Given the description of an element on the screen output the (x, y) to click on. 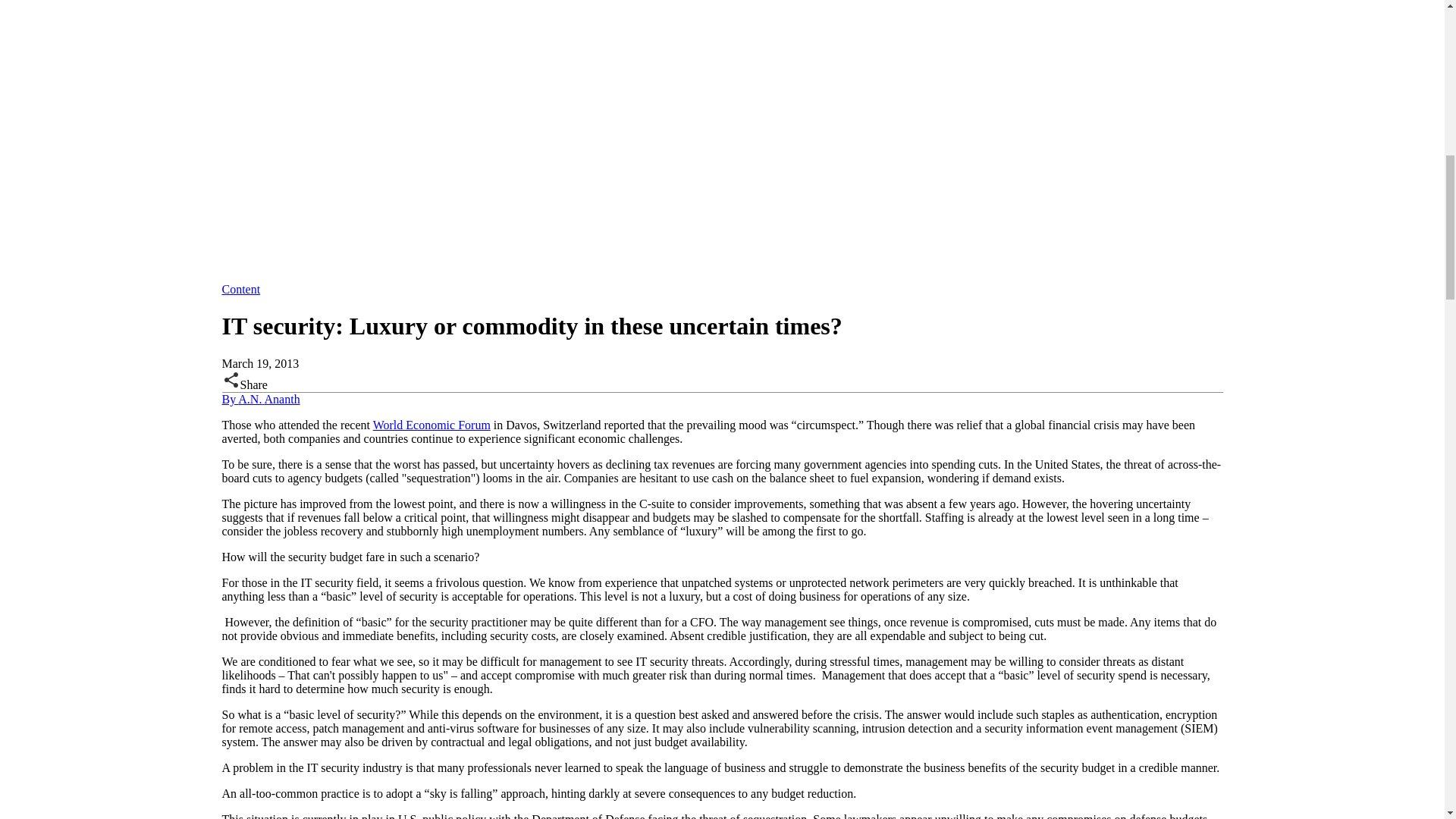
By A.N. Ananth (260, 399)
World Economic Forum (431, 424)
Content (240, 288)
